Given the description of an element on the screen output the (x, y) to click on. 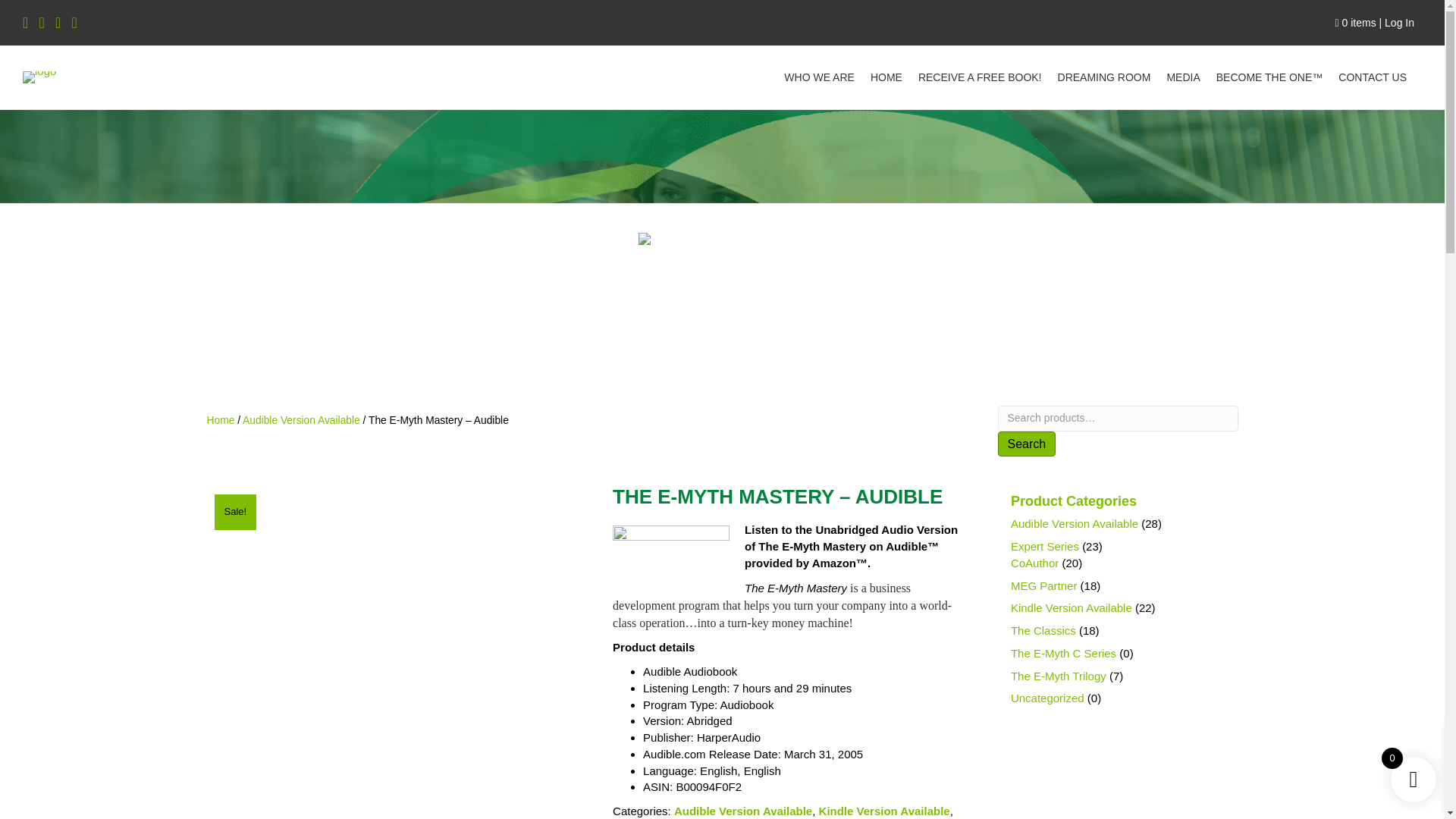
HOME (886, 77)
DREAMING ROOM (1103, 77)
Home (220, 419)
Audible Version Available (1074, 522)
Expert Series (1044, 545)
WHO WE ARE (818, 77)
logo (39, 77)
Kindle Version Available (884, 810)
MEG Partner (1043, 585)
TEMCFO Library HEader Logo (722, 238)
